Given the description of an element on the screen output the (x, y) to click on. 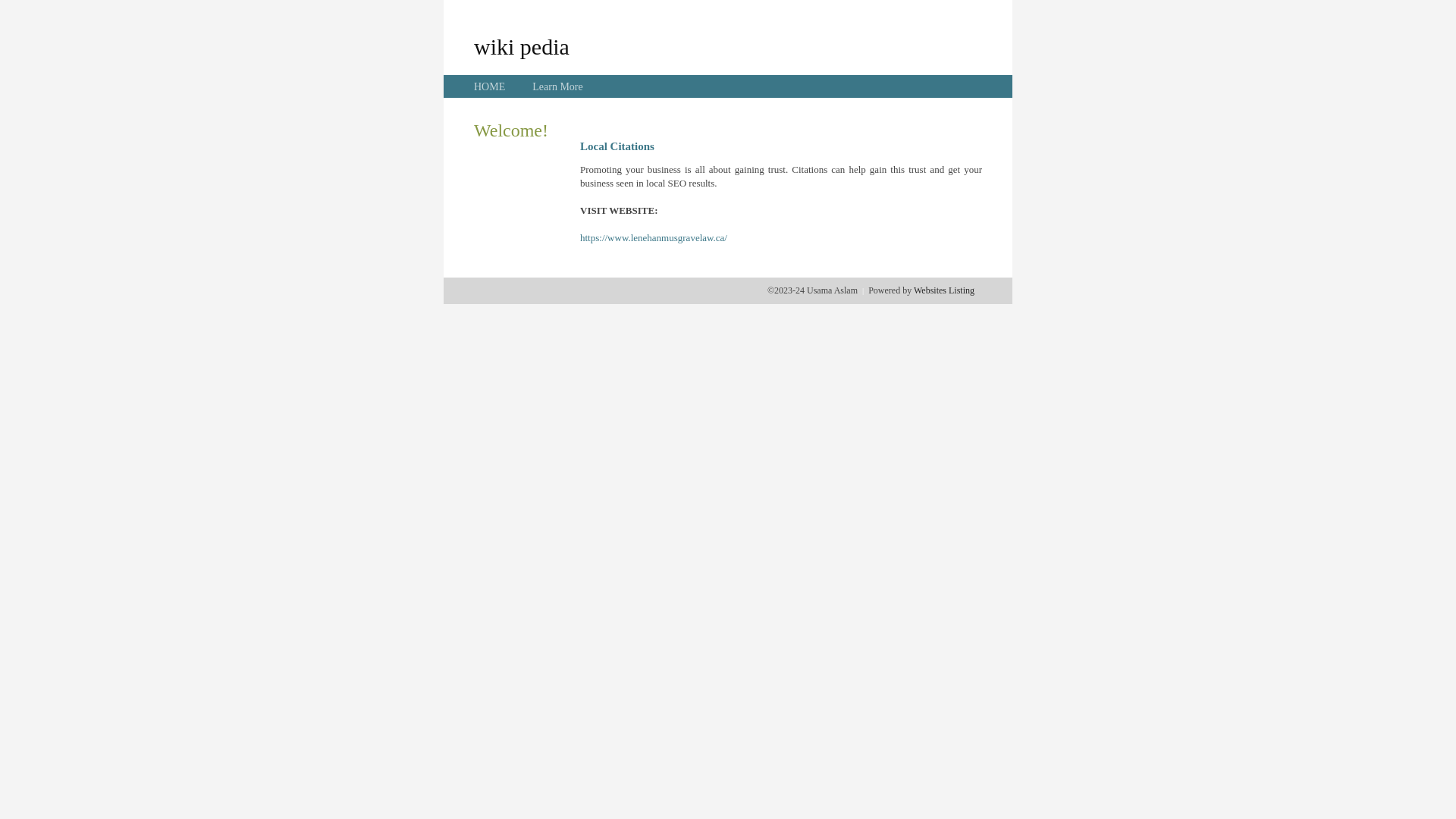
HOME Element type: text (489, 86)
https://www.lenehanmusgravelaw.ca/ Element type: text (653, 237)
Websites Listing Element type: text (943, 290)
Learn More Element type: text (557, 86)
wiki pedia Element type: text (521, 46)
